Given the description of an element on the screen output the (x, y) to click on. 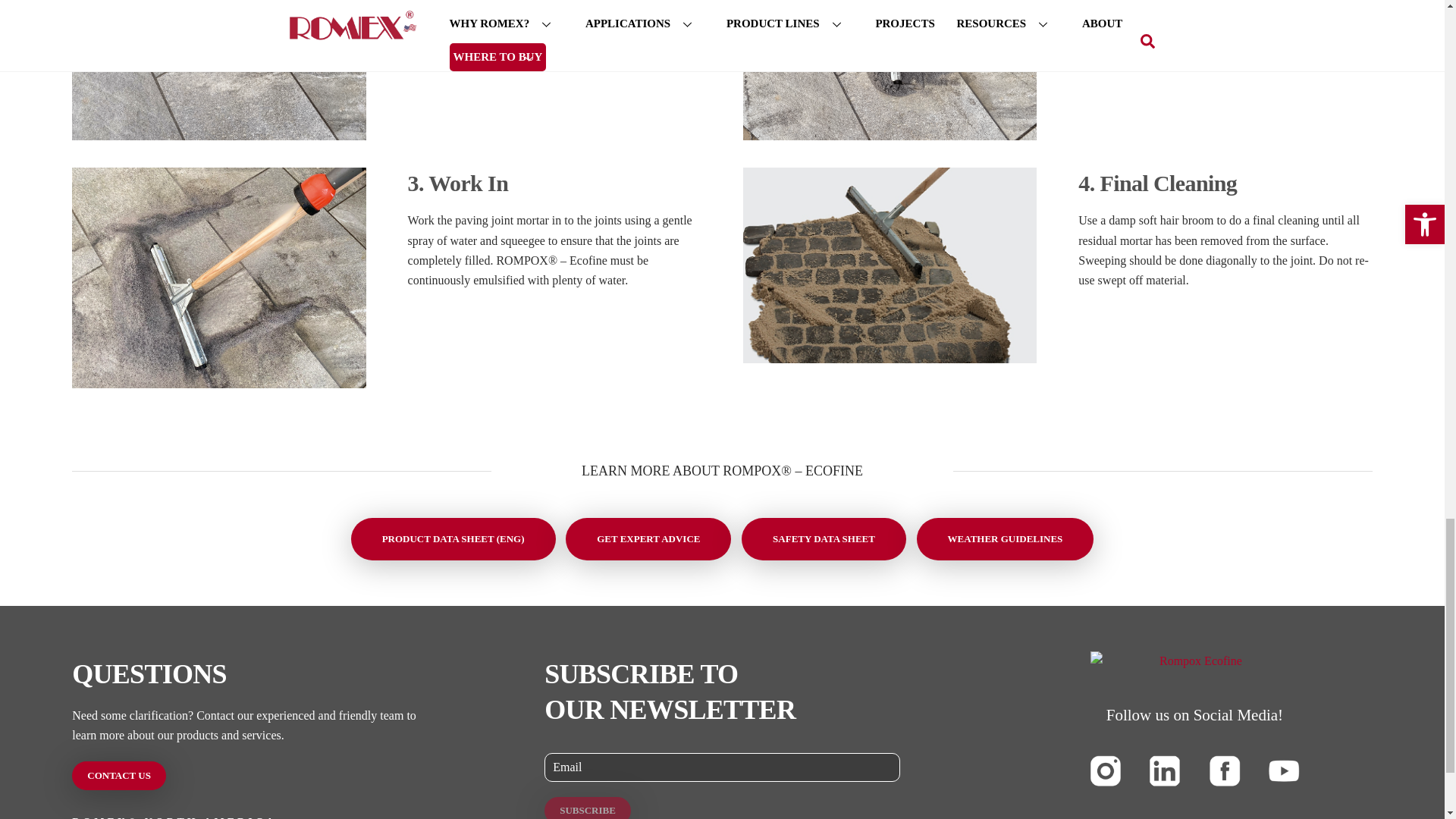
2 (889, 70)
1 (218, 70)
